Given the description of an element on the screen output the (x, y) to click on. 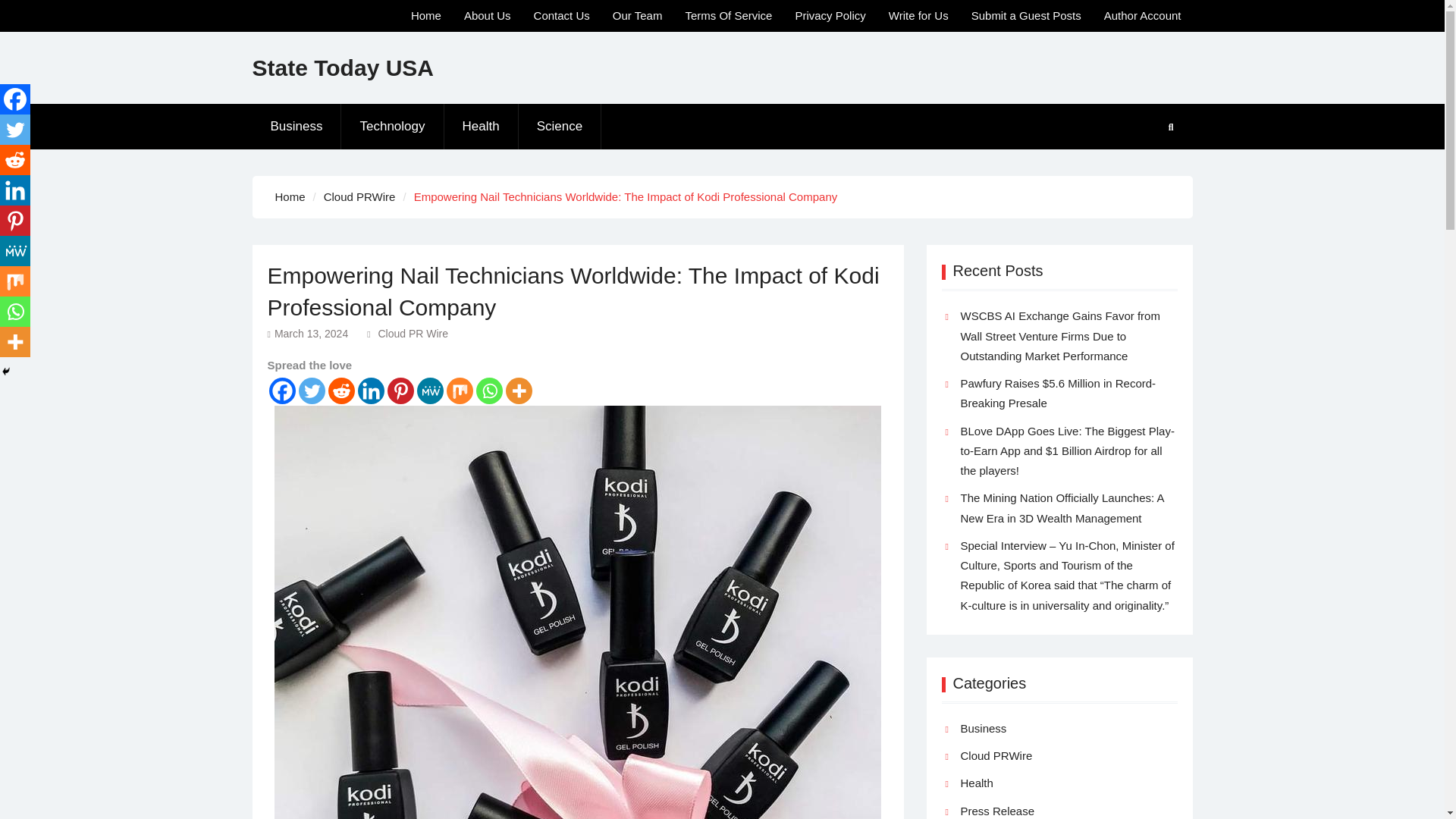
Linkedin (371, 390)
Pinterest (400, 390)
Home (425, 15)
March 13, 2024 (311, 333)
Terms Of Service (727, 15)
Technology (392, 126)
Reddit (340, 390)
Twitter (311, 390)
Author Account (1142, 15)
Health (481, 126)
